Given the description of an element on the screen output the (x, y) to click on. 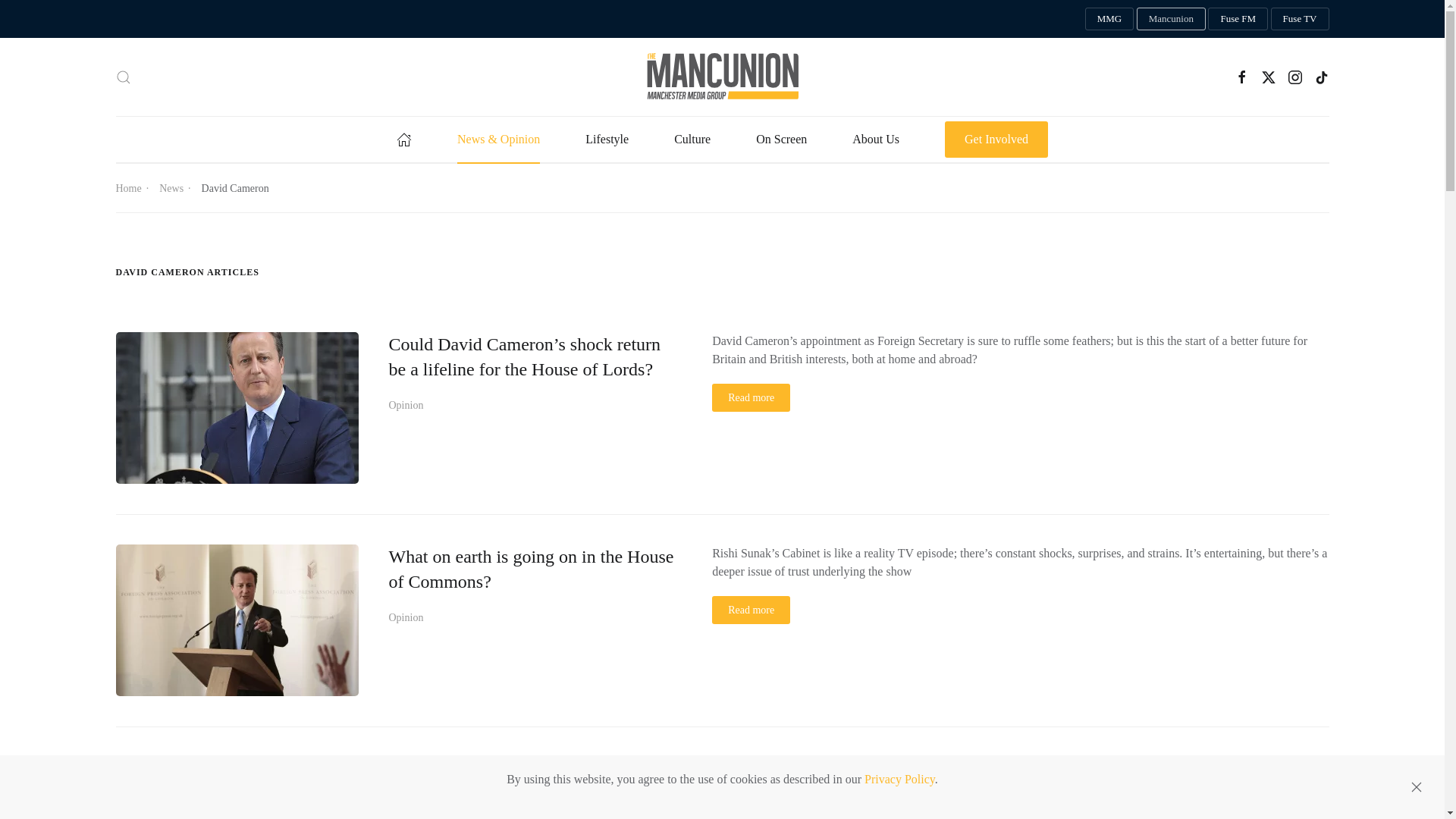
MMG (1109, 18)
Manchester Fuse FM (1238, 18)
Mancunion (1171, 18)
Manchester University Mancunion Newspaper (1171, 18)
Manchester Fuse TV (1300, 18)
Manchester Media Group (1109, 18)
Fuse TV (1300, 18)
Fuse FM (1238, 18)
